Given the description of an element on the screen output the (x, y) to click on. 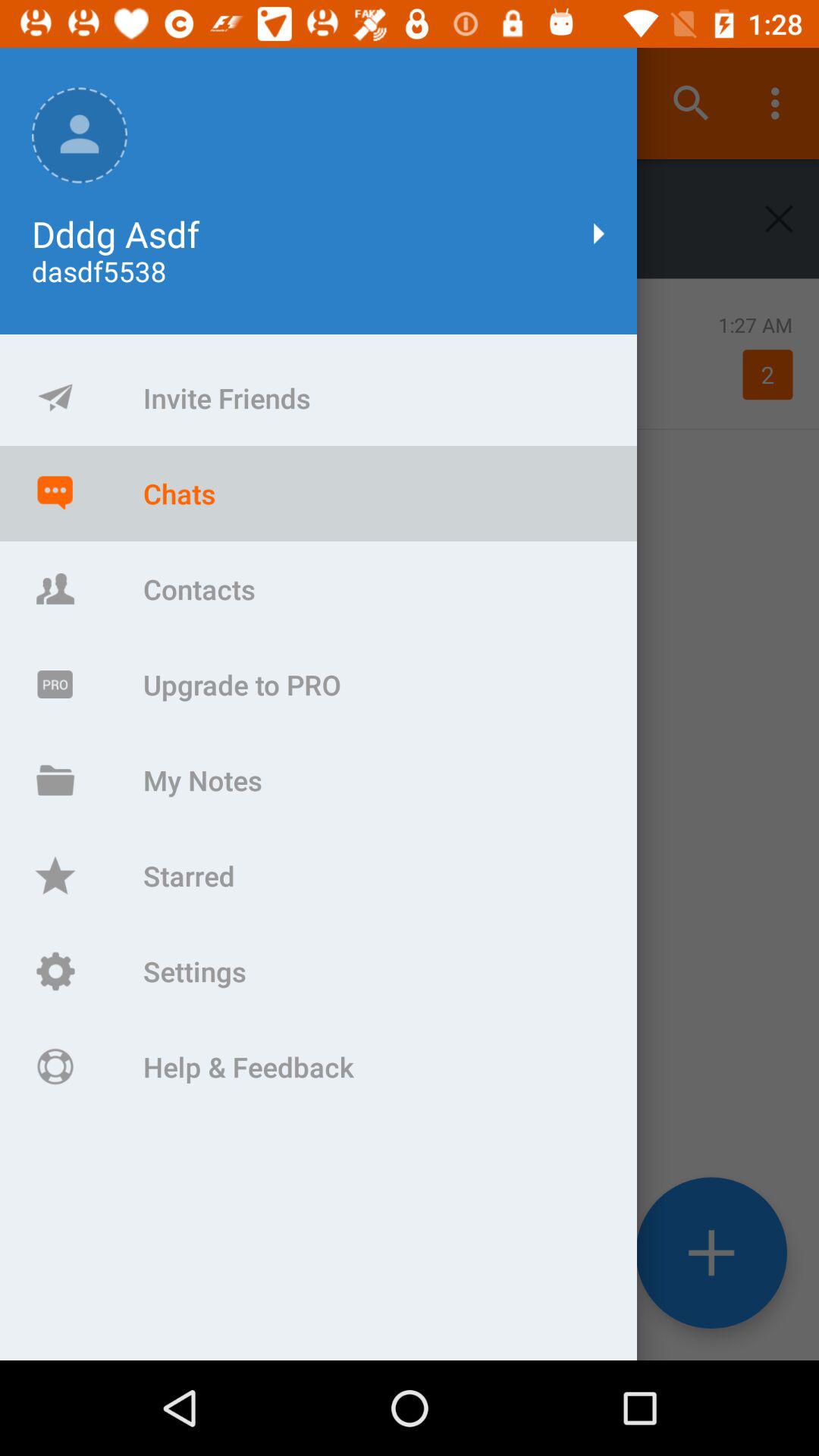
close button (779, 218)
